Given the description of an element on the screen output the (x, y) to click on. 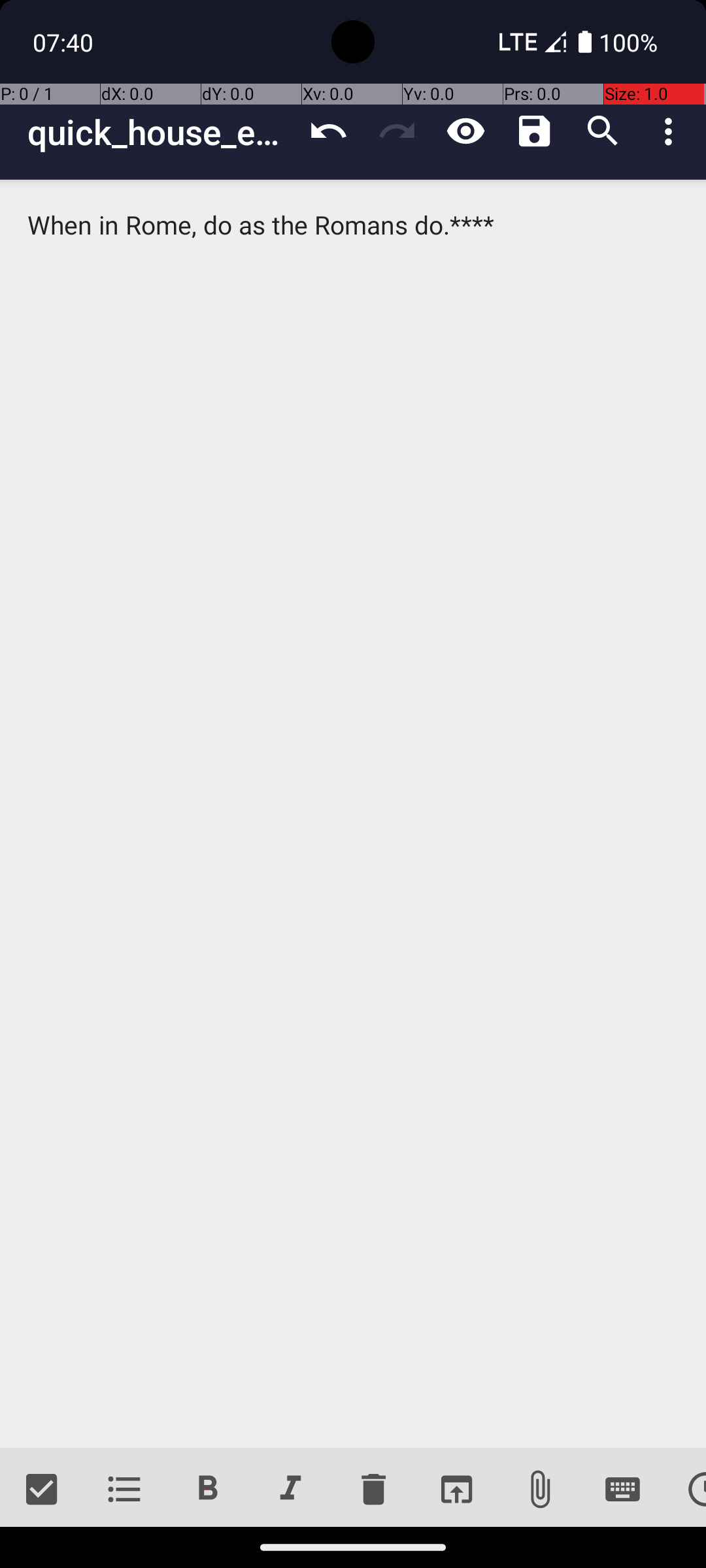
quick_house_edited Element type: android.widget.TextView (160, 131)
When in Rome, do as the Romans do.**** Element type: android.widget.EditText (353, 813)
07:40 Element type: android.widget.TextView (64, 41)
